Given the description of an element on the screen output the (x, y) to click on. 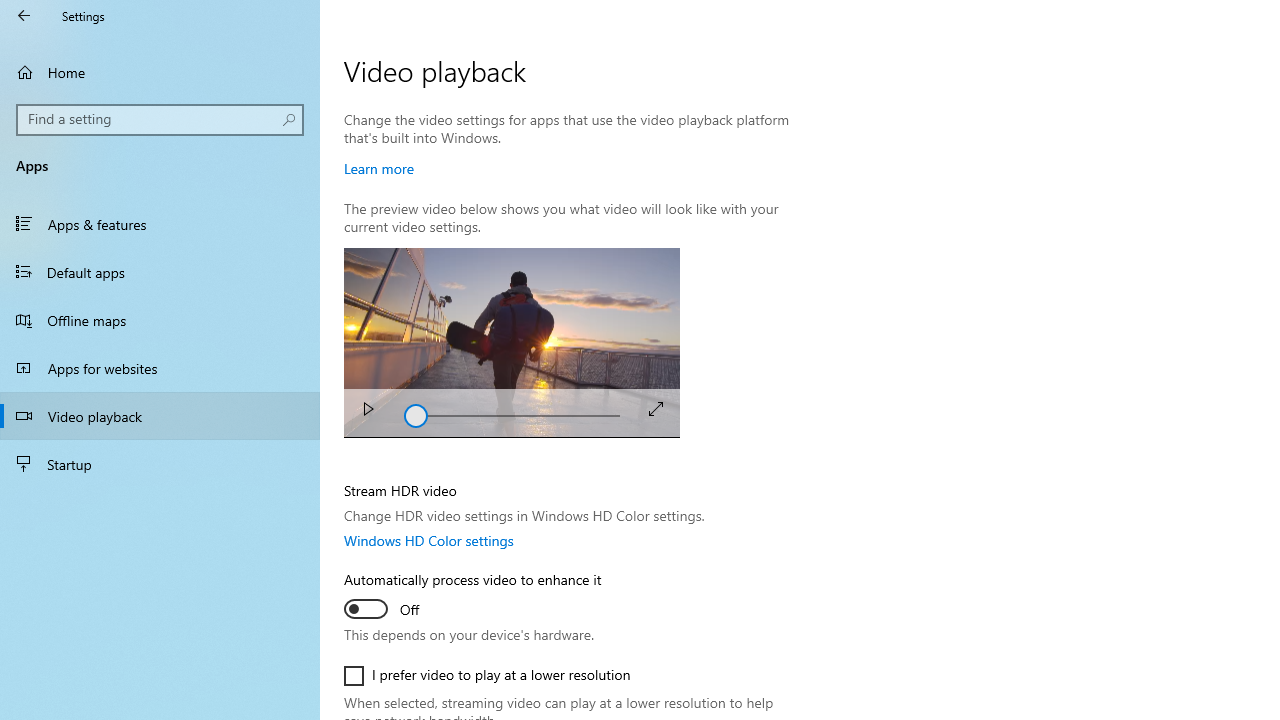
Full Screen (655, 408)
